Given the description of an element on the screen output the (x, y) to click on. 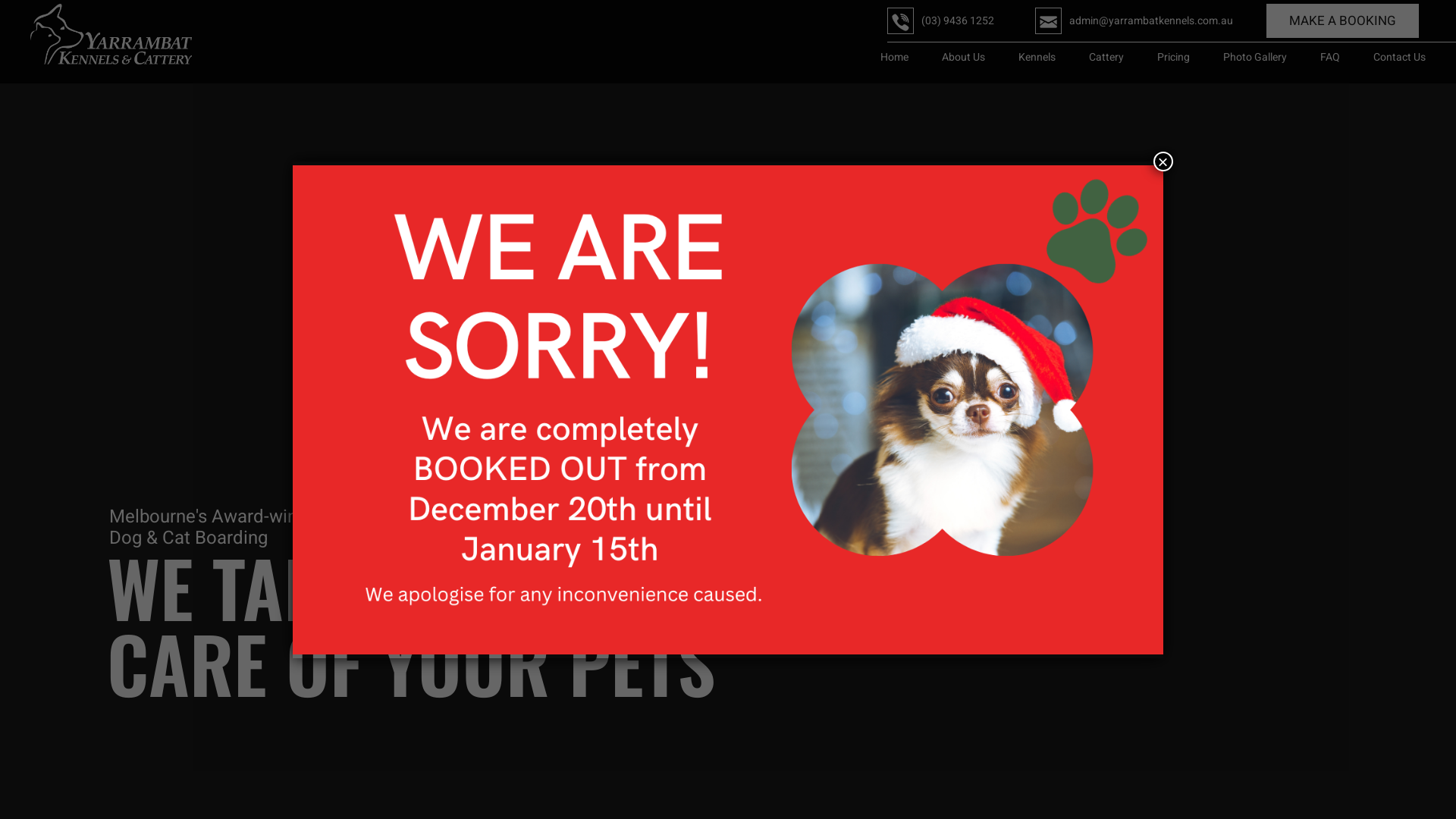
FAQ Element type: text (1329, 56)
admin@yarrambatkennels.com.au Element type: text (1151, 20)
Photo Gallery Element type: text (1254, 56)
(03) 9436 1252 Element type: text (957, 20)
Pricing Element type: text (1173, 56)
Cattery Element type: text (1105, 56)
Kennels Element type: text (1036, 56)
About Us Element type: text (963, 56)
Contact Us Element type: text (1399, 56)
MAKE A BOOKING Element type: text (1342, 20)
Home Element type: text (894, 56)
